Given the description of an element on the screen output the (x, y) to click on. 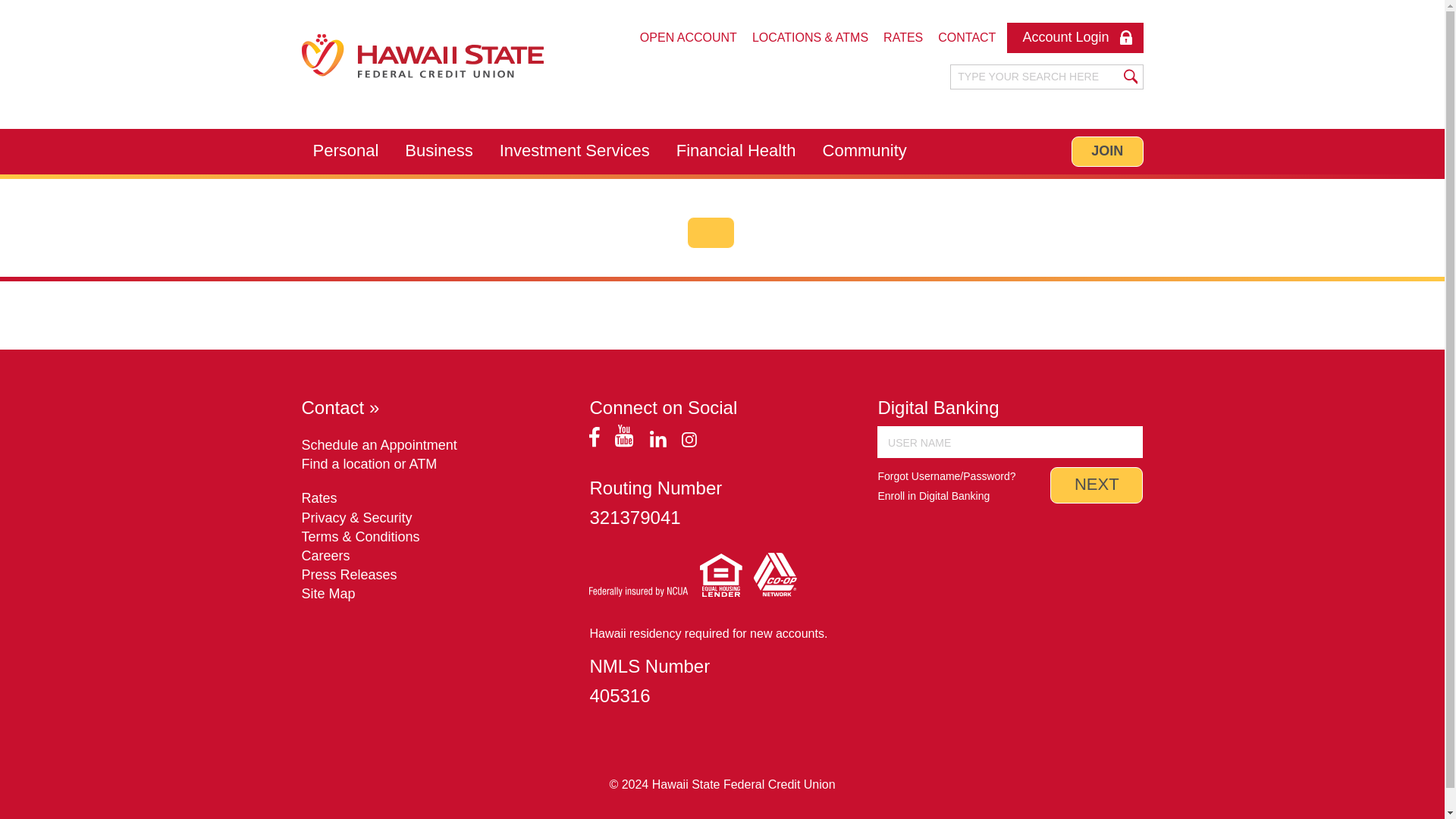
Relationship Package (378, 182)
Site Search (1036, 76)
Investment Services (574, 151)
Digital Wallet (766, 182)
Motorcycle Loans (534, 182)
Business Accounts (473, 182)
CONTACT (966, 37)
Digital Banking (772, 182)
PV Loans (510, 182)
Online Access (784, 182)
Business (438, 151)
Business Loans (464, 182)
Auto Loans (515, 182)
Personal (345, 151)
OPEN ACCOUNT (687, 37)
